Given the description of an element on the screen output the (x, y) to click on. 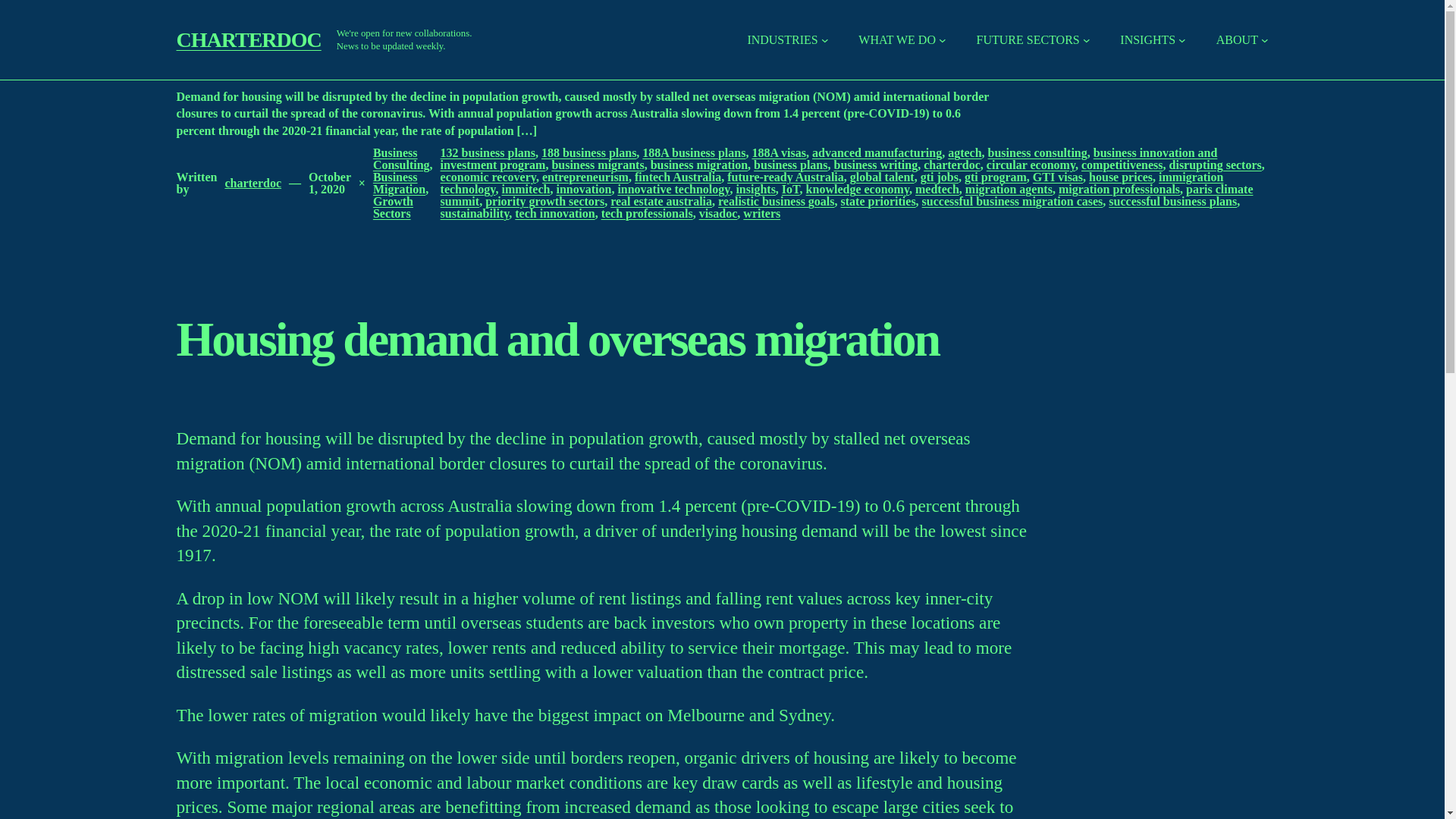
INDUSTRIES (781, 39)
WHAT WE DO (897, 39)
FUTURE SECTORS (1028, 39)
CHARTERDOC (248, 39)
